Given the description of an element on the screen output the (x, y) to click on. 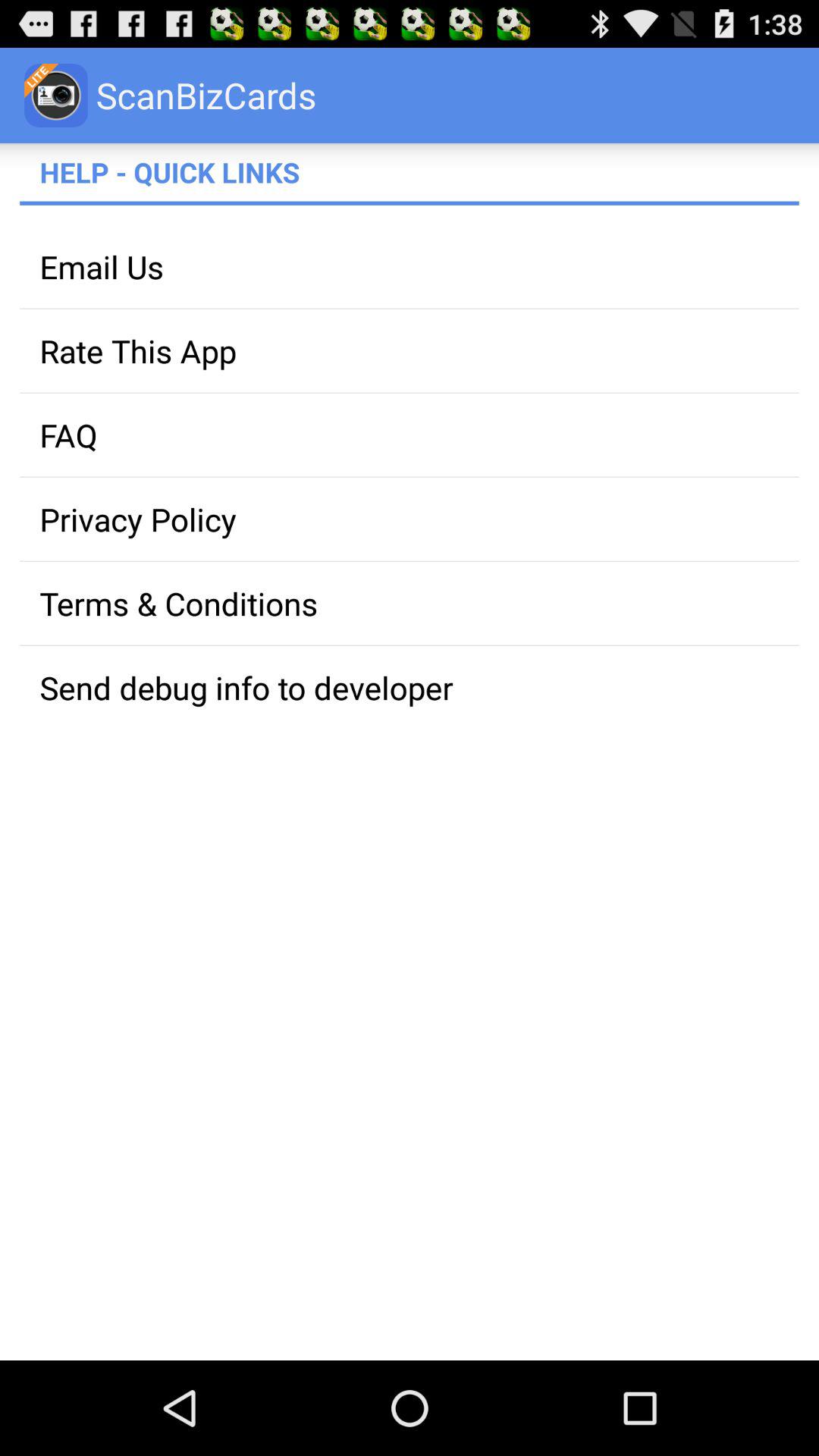
press item below terms & conditions (409, 687)
